Given the description of an element on the screen output the (x, y) to click on. 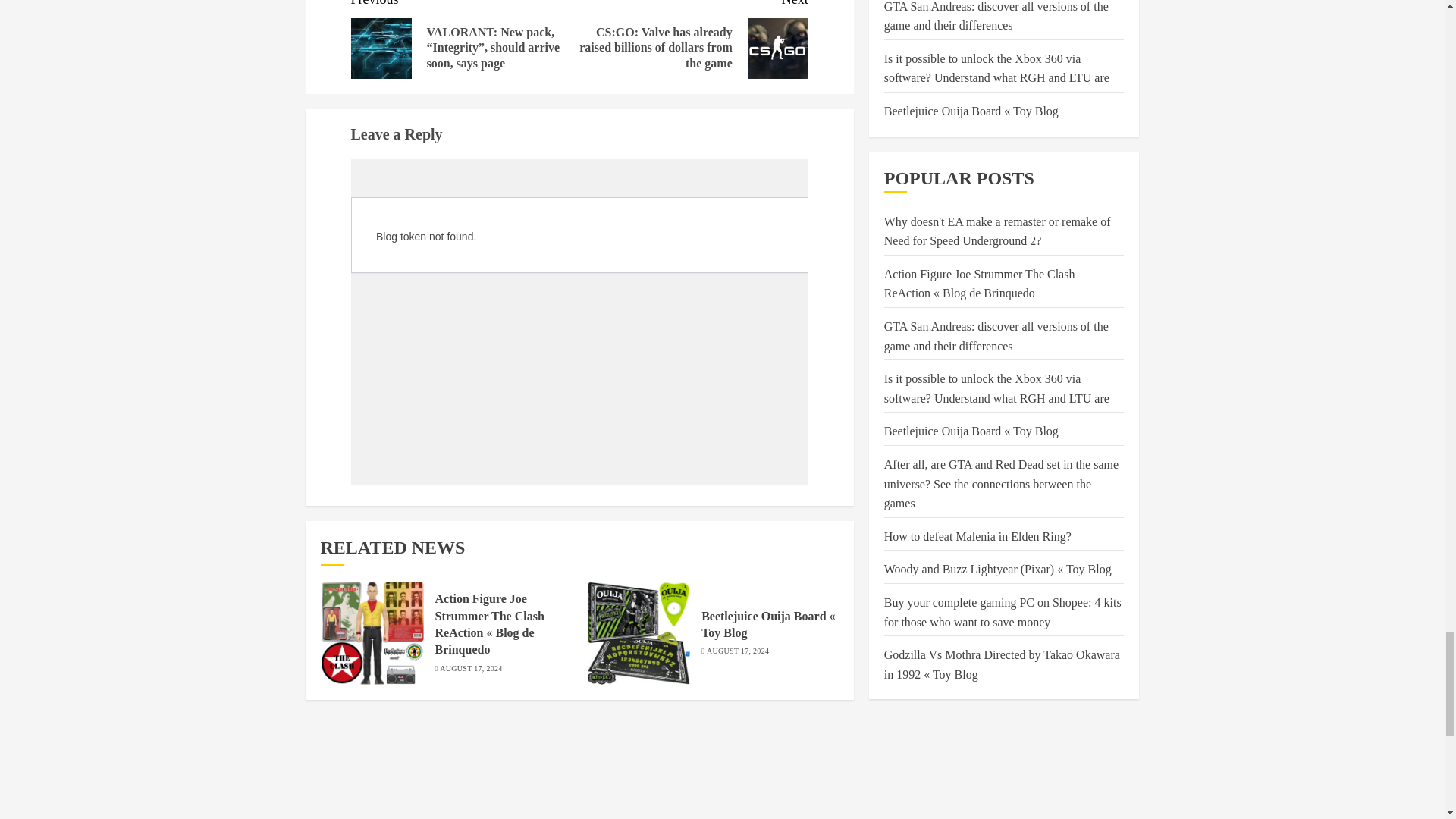
AUGUST 17, 2024 (470, 668)
AUGUST 17, 2024 (737, 651)
